Given the description of an element on the screen output the (x, y) to click on. 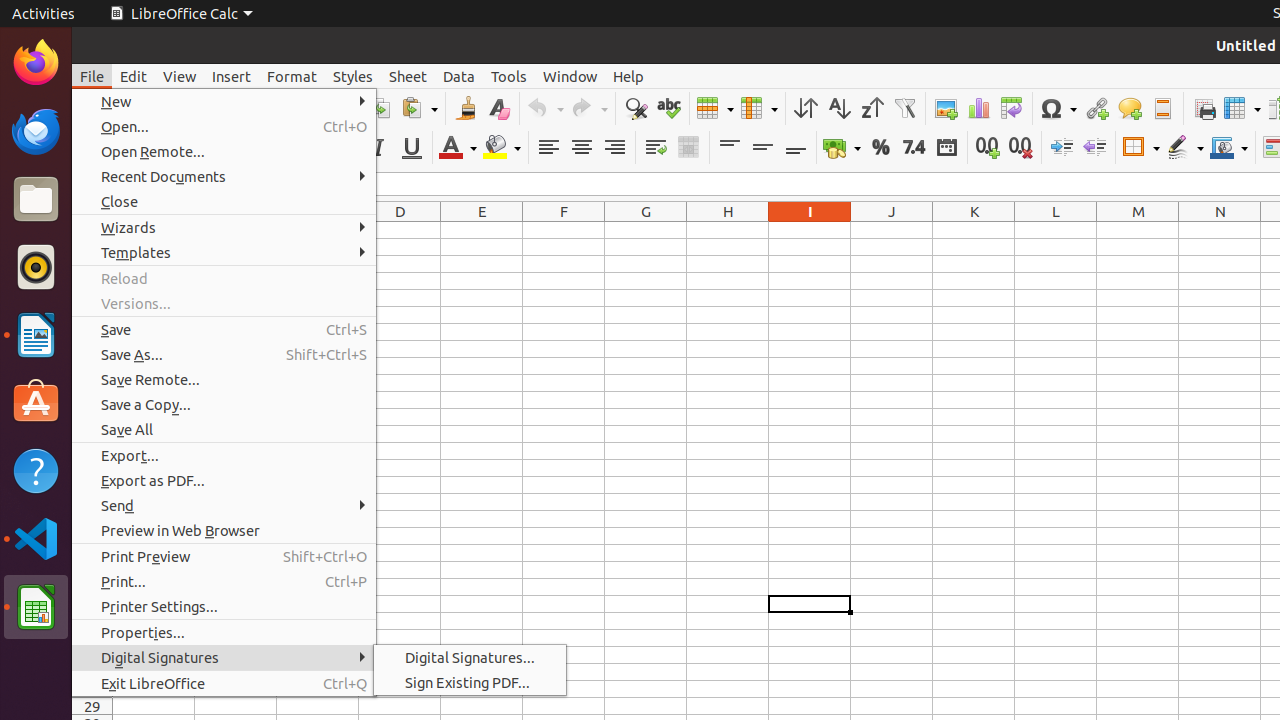
Insert Element type: menu (231, 76)
Digital Signatures Element type: menu (224, 657)
Increase Element type: push-button (1061, 147)
Save Remote... Element type: menu-item (224, 379)
Spelling Element type: push-button (668, 108)
